Given the description of an element on the screen output the (x, y) to click on. 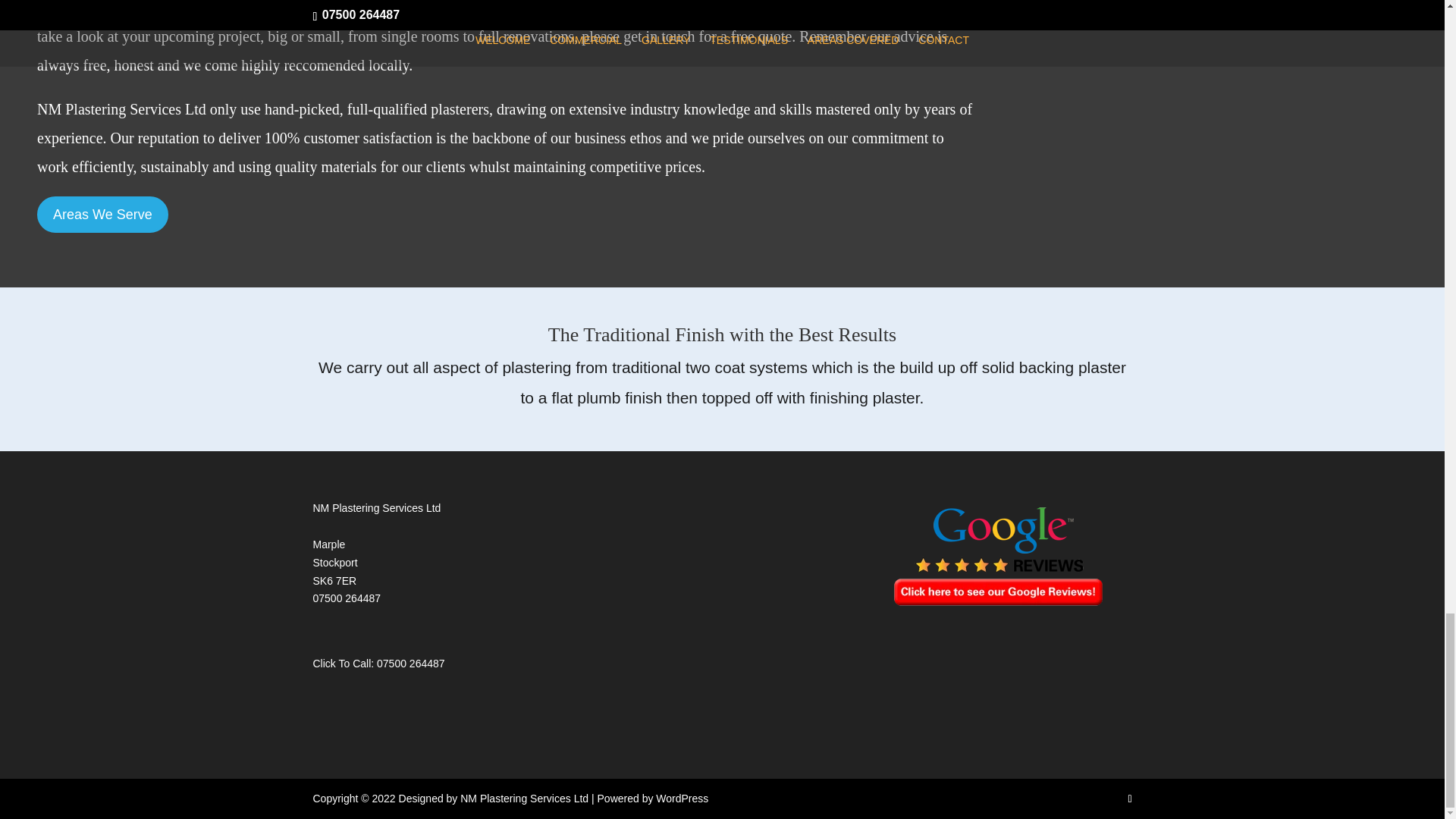
Areas We Serve (102, 213)
07500 264487 (411, 663)
